Given the description of an element on the screen output the (x, y) to click on. 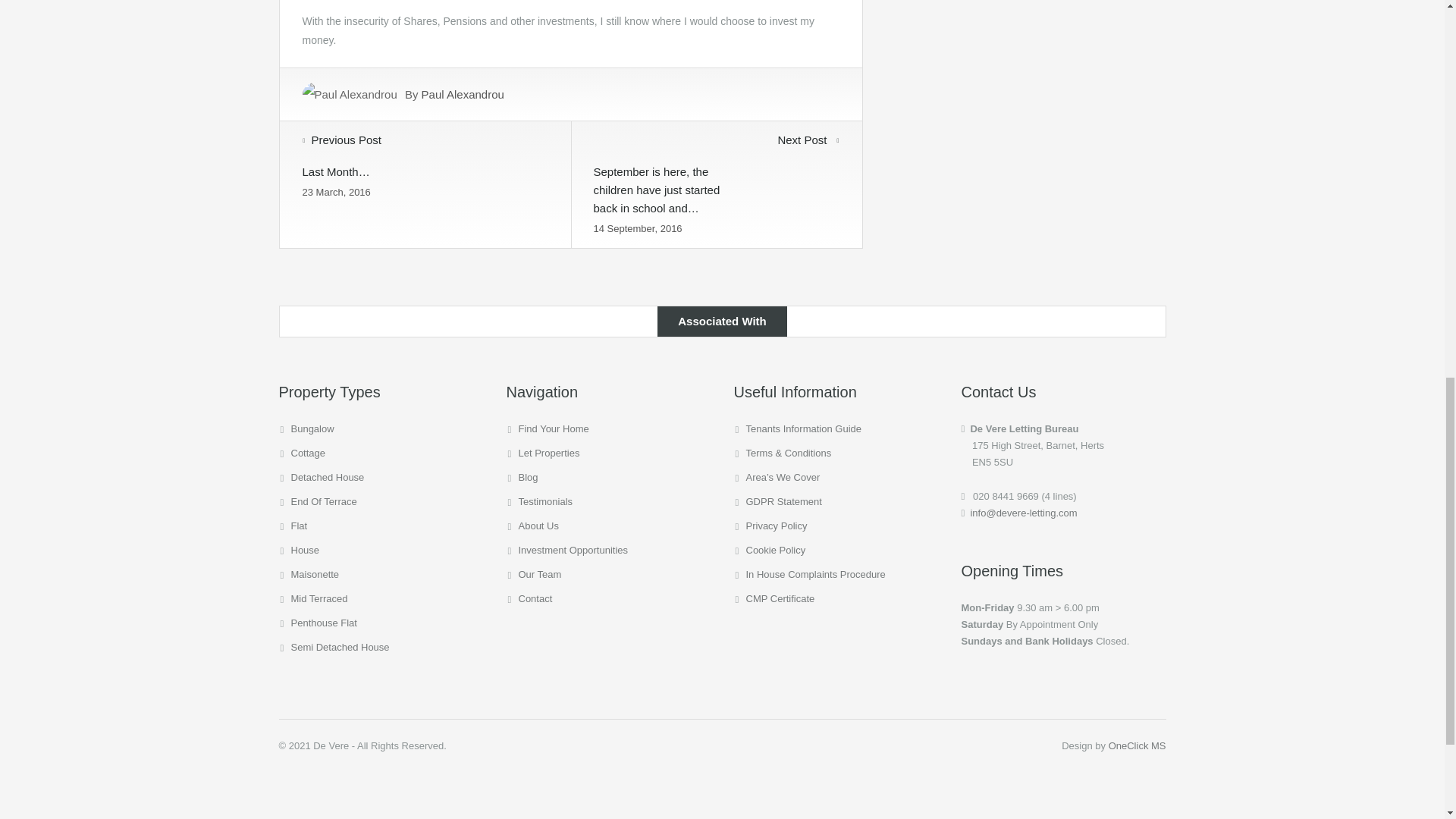
Paul Alexandrou (462, 93)
